Given the description of an element on the screen output the (x, y) to click on. 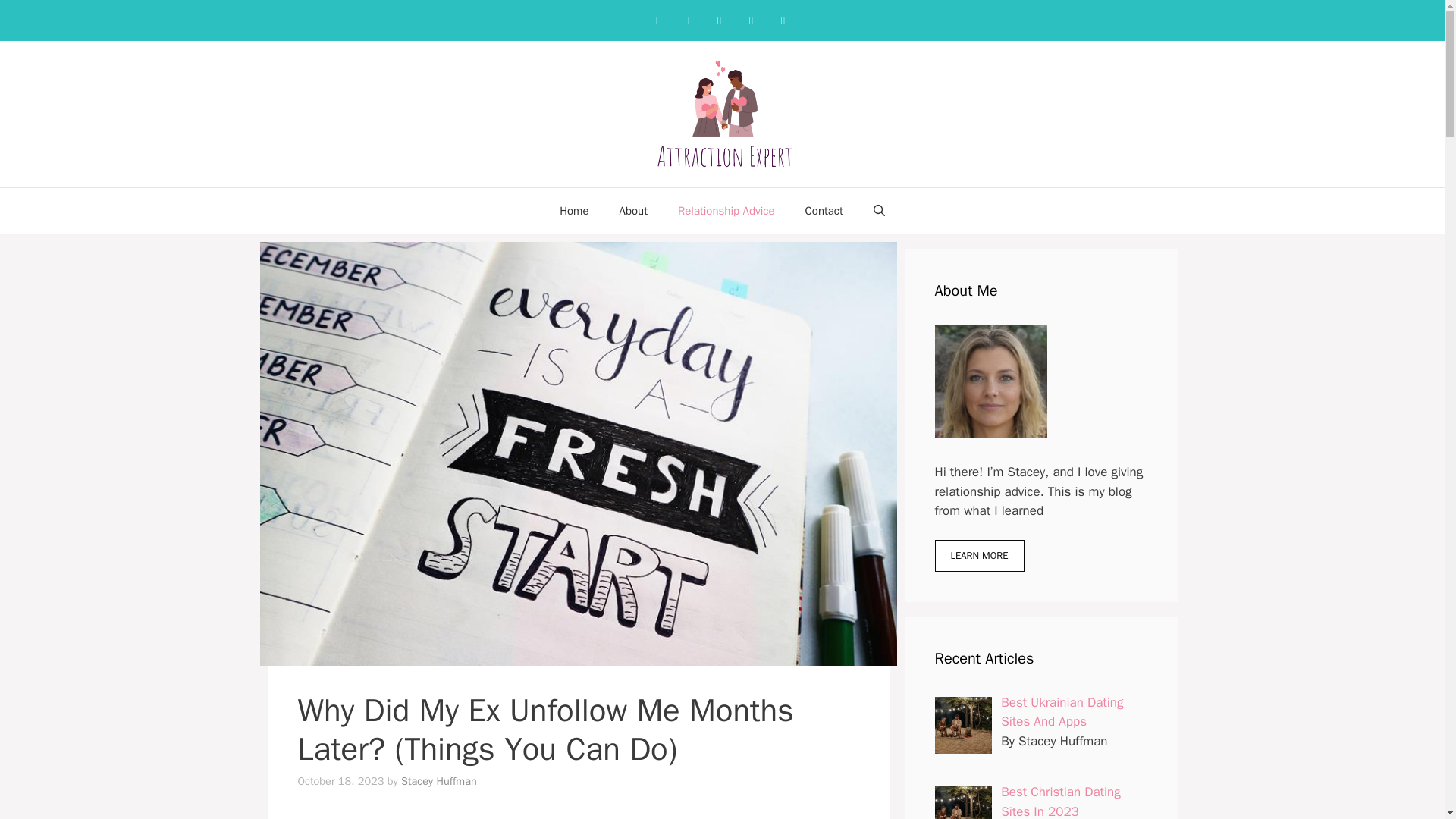
Home (574, 210)
About (633, 210)
LEARN MORE (978, 555)
Contact (824, 210)
Facebook (655, 20)
Stacey Huffman (439, 780)
Twitter (751, 20)
View all posts by Stacey Huffman (439, 780)
Pinterest (719, 20)
Relationship Advice (726, 210)
Best Ukrainian Dating Sites And Apps (1061, 712)
YouTube (783, 20)
Instagram (687, 20)
Best Christian Dating Sites In 2023 (1061, 801)
